Given the description of an element on the screen output the (x, y) to click on. 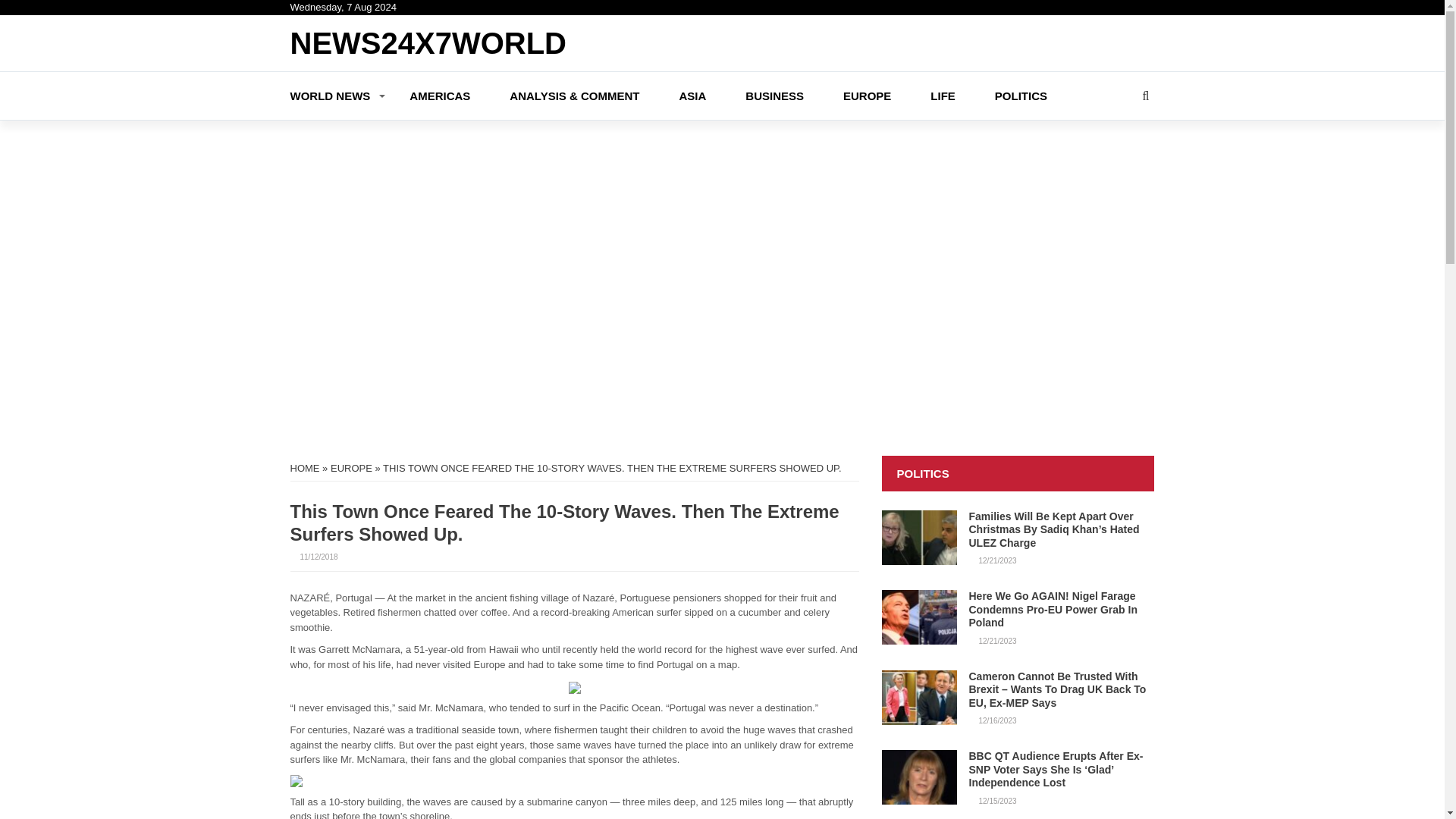
Europe (886, 94)
ASIA (711, 94)
EUROPE (886, 94)
BUSINESS (794, 94)
Asia (711, 94)
Business (794, 94)
HOME (303, 468)
Life (962, 94)
LIFE (962, 94)
Politics (1040, 94)
